Given the description of an element on the screen output the (x, y) to click on. 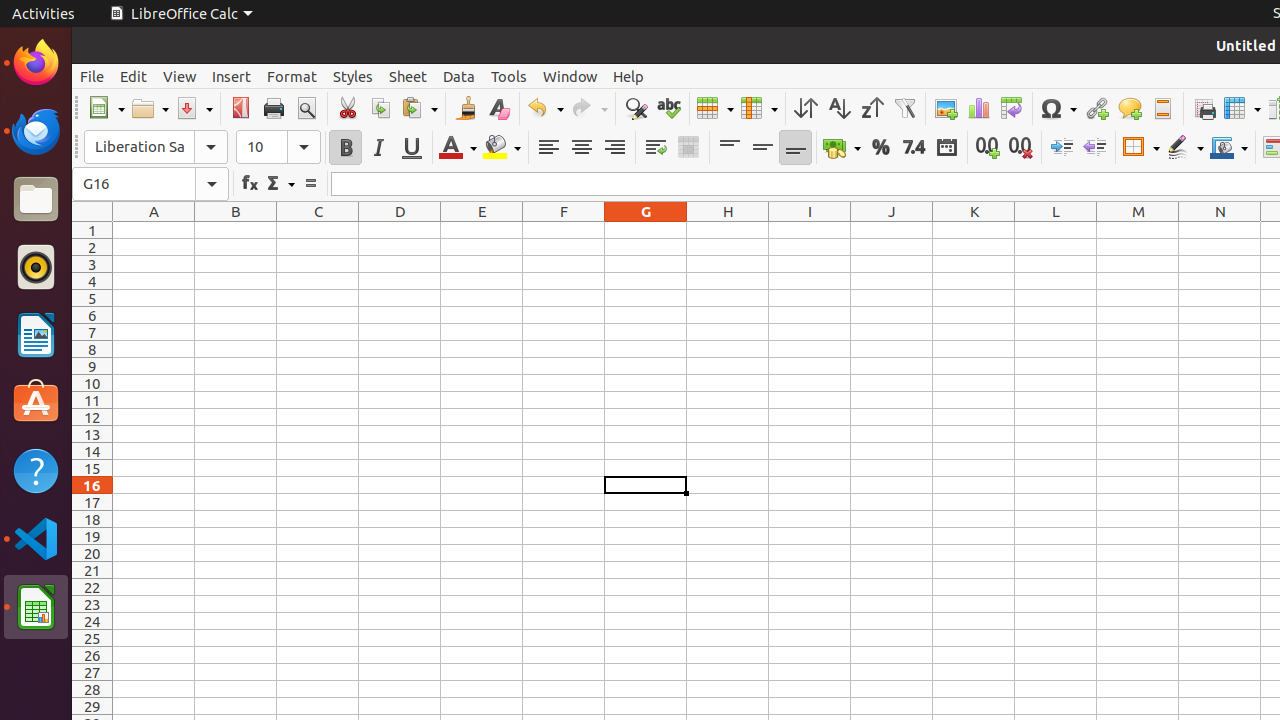
Clear Element type: push-button (498, 108)
Sort Descending Element type: push-button (871, 108)
Hyperlink Element type: toggle-button (1096, 108)
Print Element type: push-button (273, 108)
Copy Element type: push-button (380, 108)
